Given the description of an element on the screen output the (x, y) to click on. 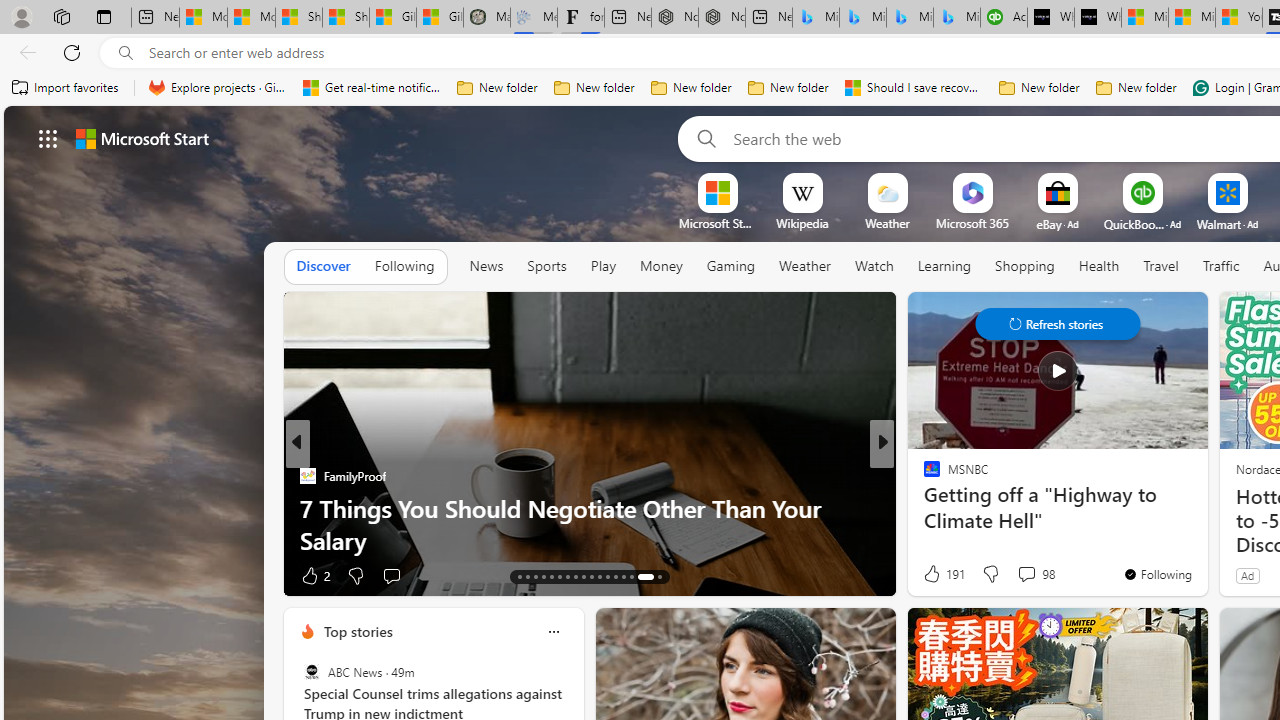
Should I save recovered Word documents? - Microsoft Support (913, 88)
AutomationID: tab-27 (631, 576)
AutomationID: waffle (47, 138)
Weather (804, 265)
AutomationID: tab-22 (591, 576)
Class: control (1057, 323)
View comments 56 Comment (1029, 574)
Health (1099, 265)
AutomationID: tab-14 (527, 576)
Microsoft start (142, 138)
Learning (944, 265)
